Given the description of an element on the screen output the (x, y) to click on. 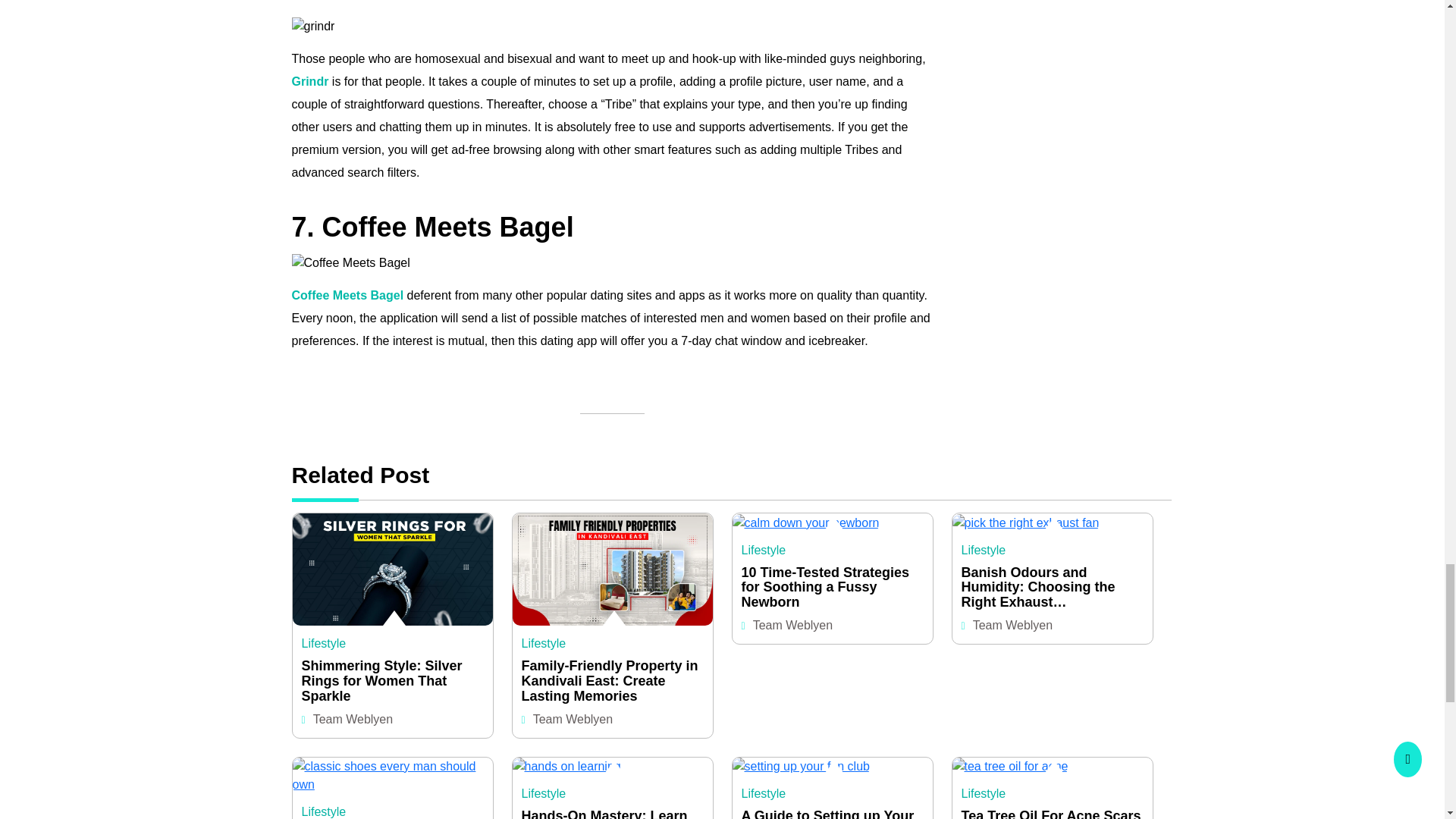
Coffee Meets Bagel (347, 295)
Grindr (310, 81)
